Given the description of an element on the screen output the (x, y) to click on. 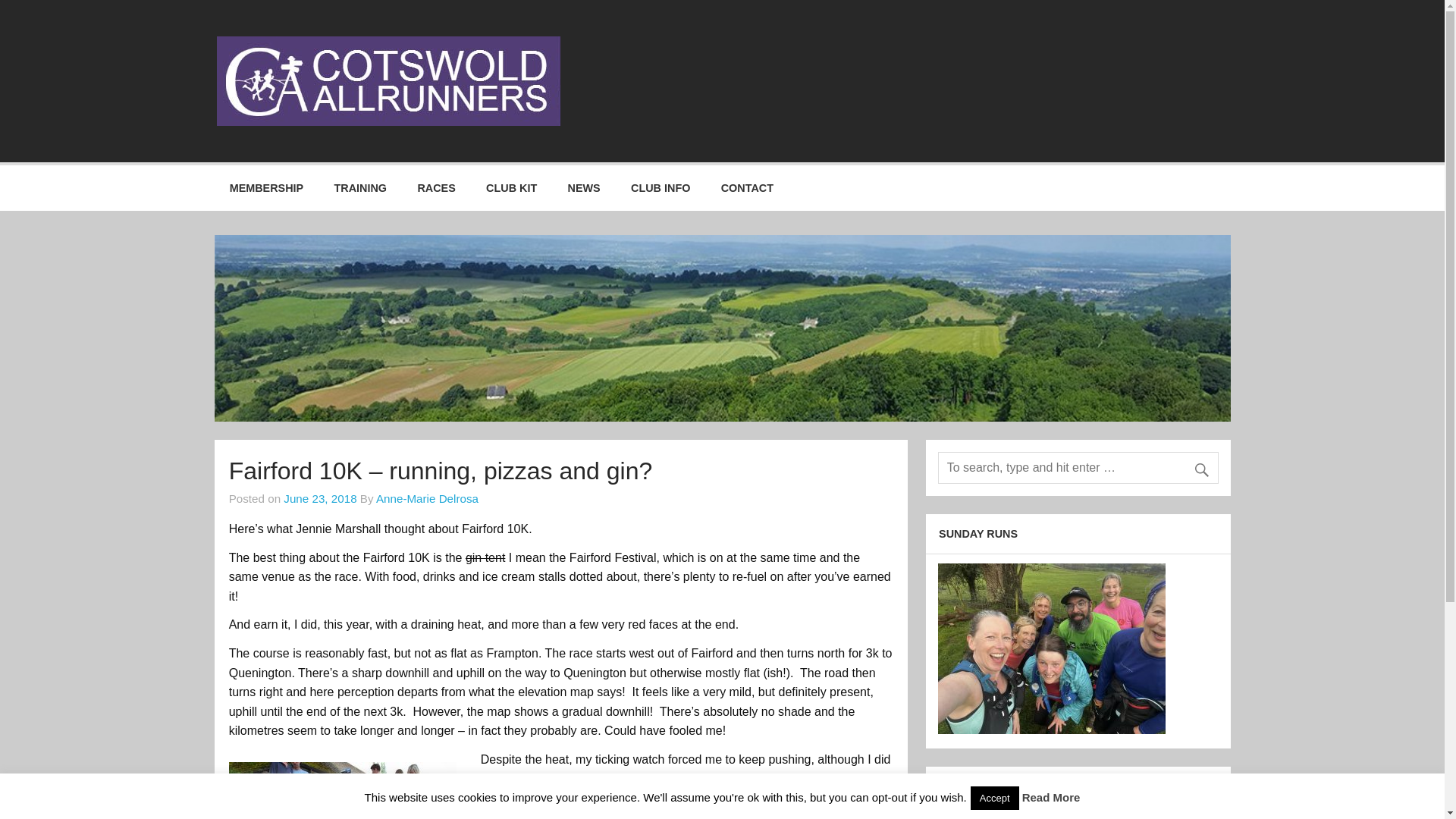
RACES (435, 187)
5:32 pm (319, 498)
CONTACT (747, 187)
MEMBERSHIP (266, 187)
NEWS (583, 187)
CLUB INFO (660, 187)
June 23, 2018 (319, 498)
CLUB KIT (510, 187)
View all posts by Anne-Marie Delrosa (427, 498)
Cotswold Allrunners Club (747, 51)
